Given the description of an element on the screen output the (x, y) to click on. 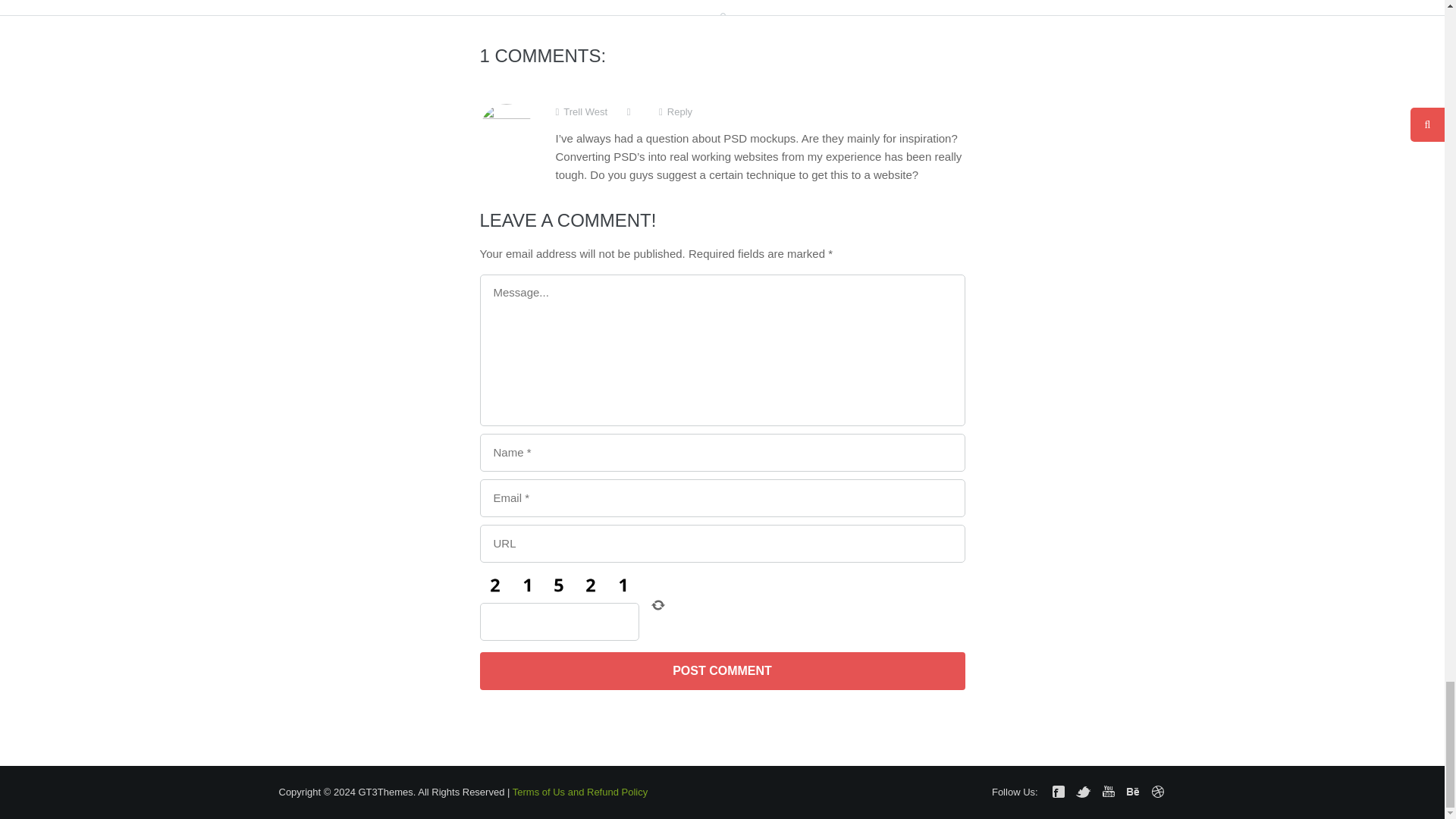
Twitter (1083, 791)
Reply (676, 111)
URL (721, 543)
Post Comment (721, 670)
Post Comment (721, 670)
Terms of Us and Refund Policy (579, 791)
